Given the description of an element on the screen output the (x, y) to click on. 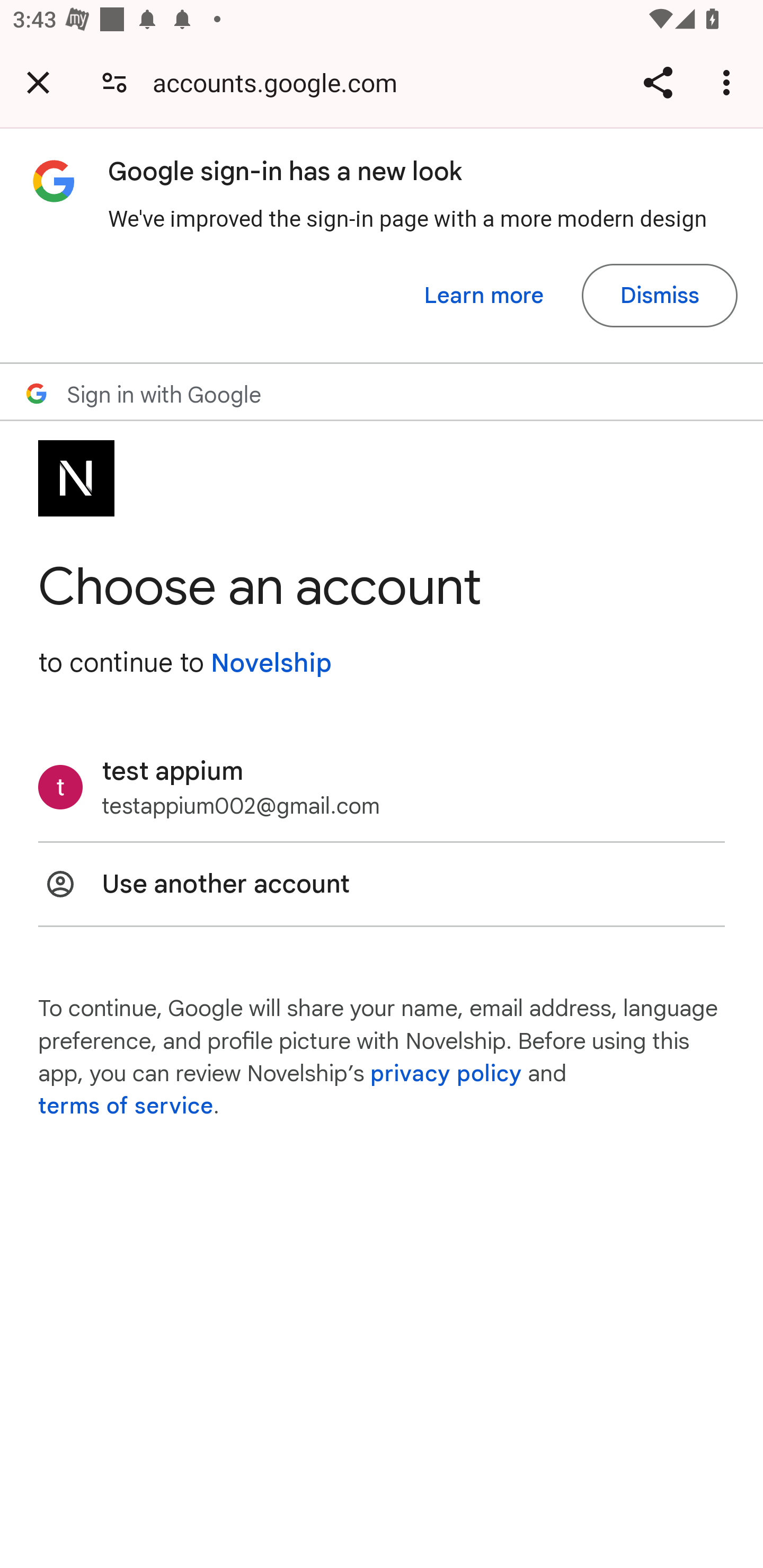
Close tab (38, 82)
Share (657, 82)
Customize and control Google Chrome (729, 82)
Connection is secure (114, 81)
accounts.google.com (281, 81)
Learn more (483, 295)
Dismiss (659, 295)
Novelship (270, 663)
Use another account (381, 884)
privacy policy (445, 1072)
terms of service (126, 1106)
